Given the description of an element on the screen output the (x, y) to click on. 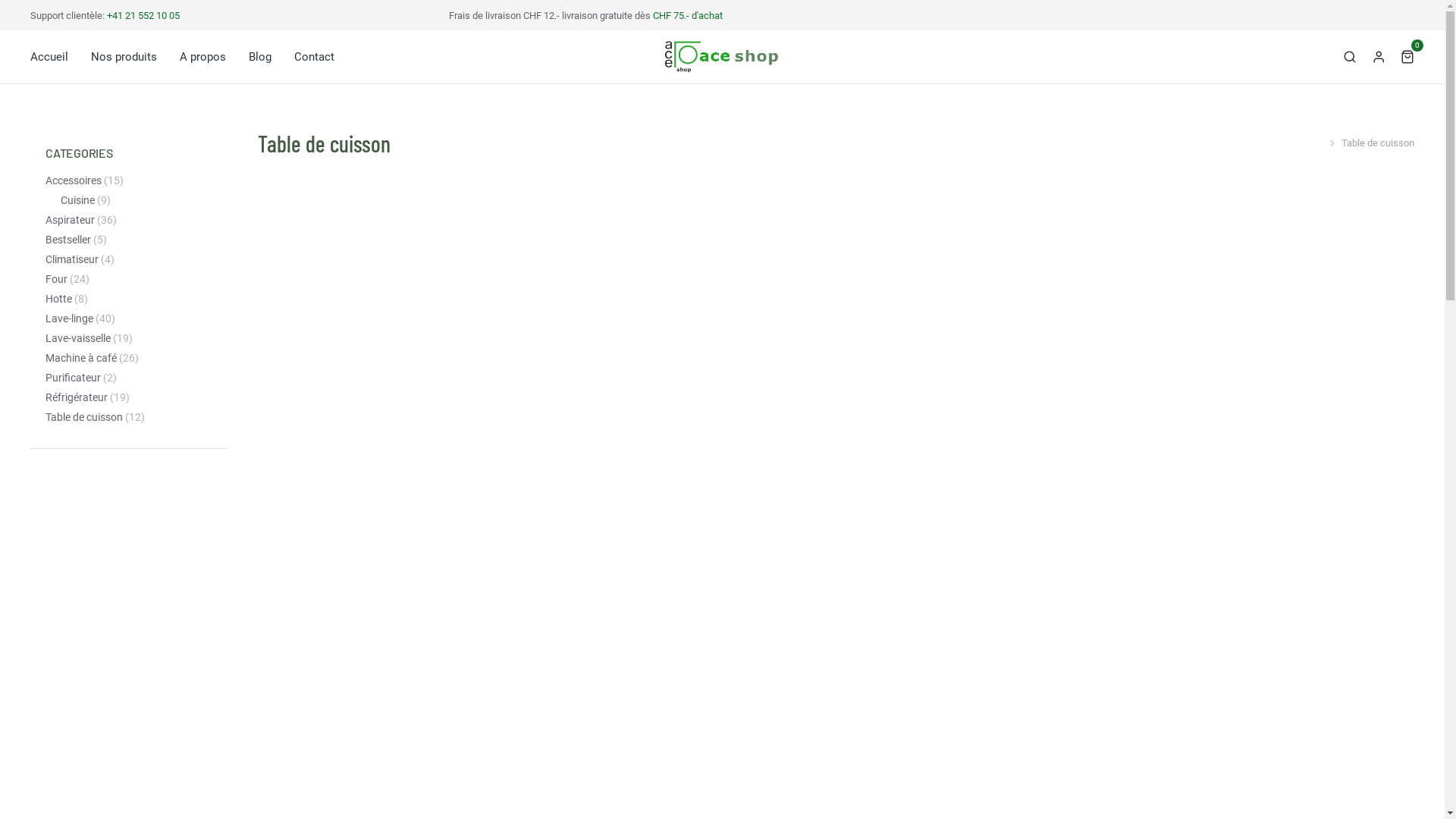
Hotte Element type: text (58, 299)
Four Element type: text (56, 279)
Accessoires Element type: text (73, 180)
Accueil Element type: text (49, 56)
0 Element type: text (1407, 55)
Bestseller Element type: text (68, 239)
Blog Element type: text (259, 56)
Contact Element type: text (314, 56)
Aspirateur Element type: text (69, 220)
Lave-linge Element type: text (69, 318)
Nos produits Element type: text (123, 56)
A propos Element type: text (202, 56)
Purificateur Element type: text (72, 377)
Table de cuisson Element type: text (83, 417)
Cuisine Element type: text (77, 200)
Lave-vaisselle Element type: text (77, 338)
Climatiseur Element type: text (71, 259)
